Given the description of an element on the screen output the (x, y) to click on. 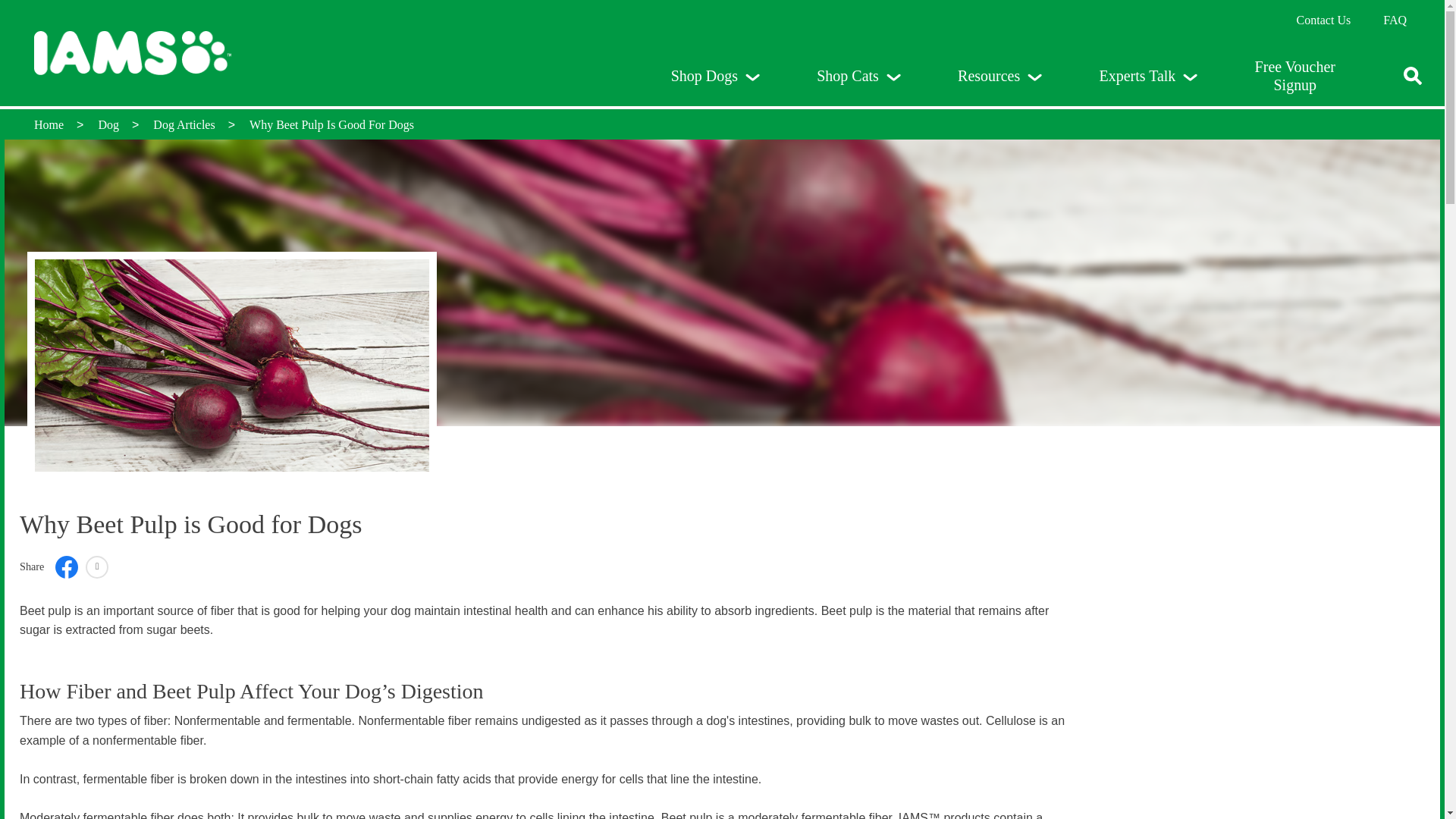
Shop Cats (858, 75)
Contact Us (1324, 20)
Shop Cats (858, 75)
FAQ (1394, 20)
Experts Talk (1147, 75)
share via email (96, 566)
Contact Us (1324, 20)
Shop Dogs (715, 75)
Resources (999, 75)
Free Voucher  Signup (1294, 75)
